Given the description of an element on the screen output the (x, y) to click on. 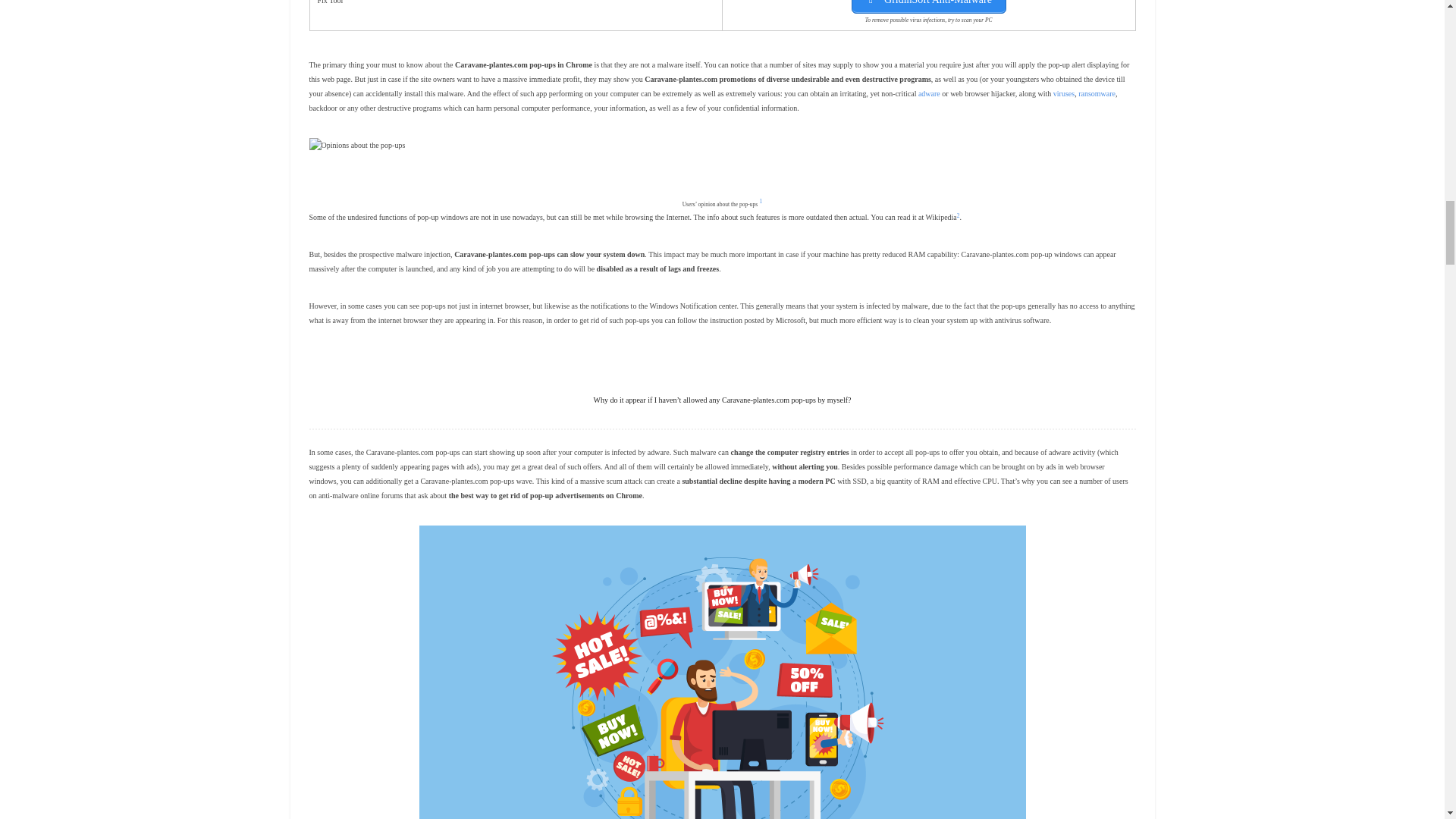
adware (929, 93)
ransomware (1096, 93)
viruses (1063, 93)
GridinSoft Anti-Malware (928, 6)
